Given the description of an element on the screen output the (x, y) to click on. 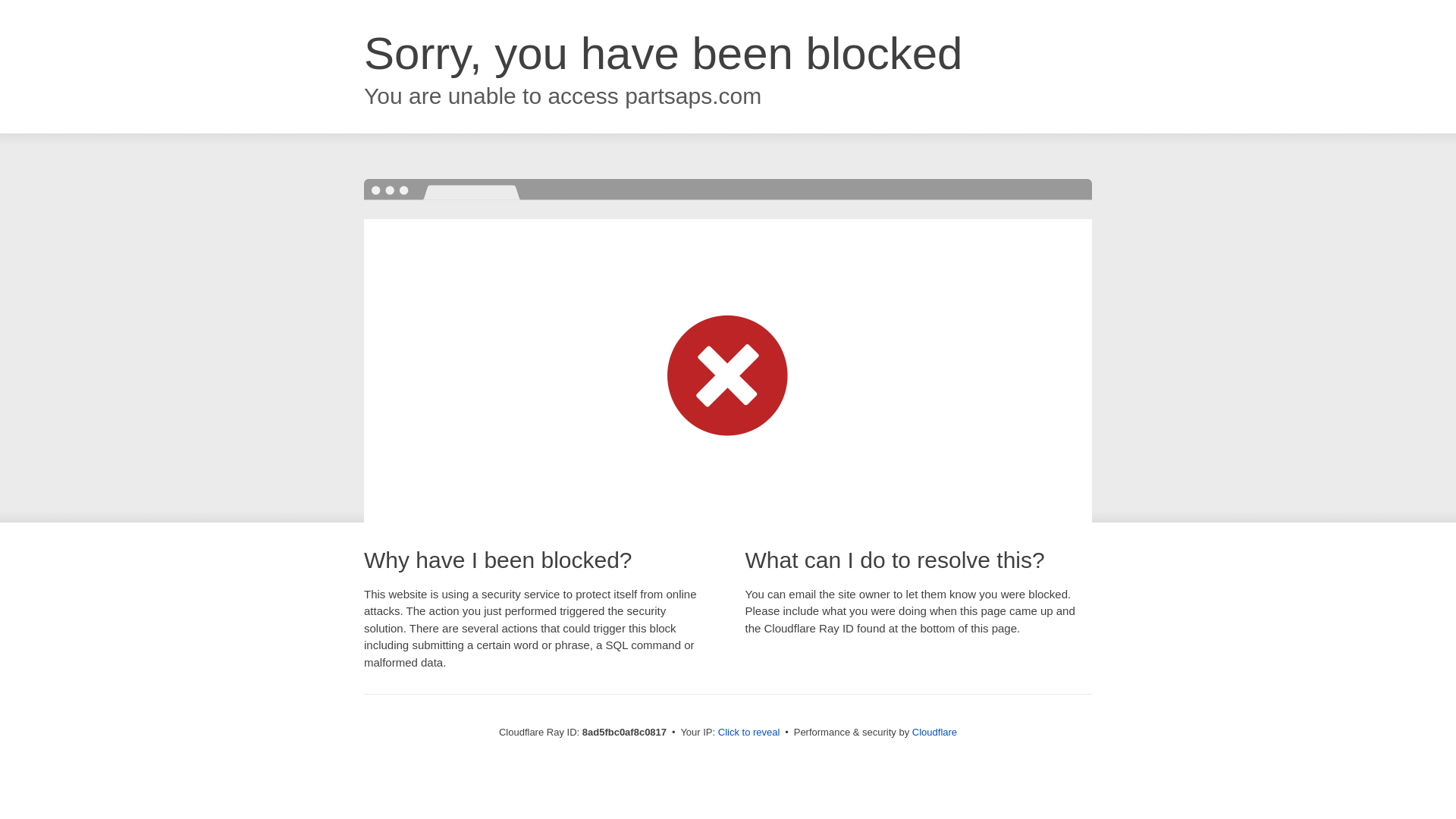
Click to reveal (748, 732)
Cloudflare (934, 731)
